Given the description of an element on the screen output the (x, y) to click on. 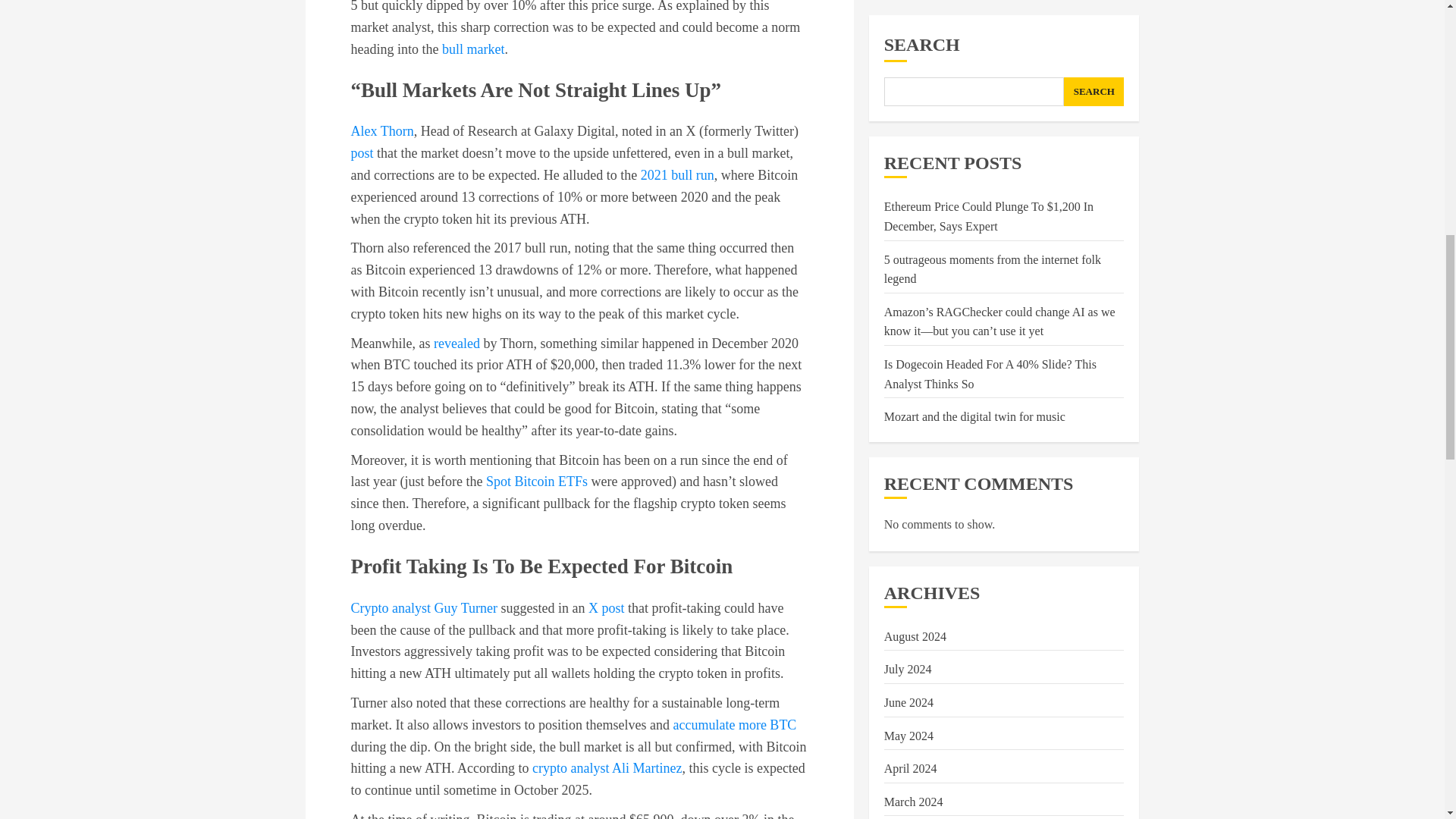
accumulate more BTC (734, 724)
Crypto analyst Guy Turner (423, 607)
post (361, 152)
Alex Thorn (381, 130)
X post (606, 607)
bull market (472, 48)
2021 bull run (677, 174)
revealed (456, 343)
Spot Bitcoin ETFs (537, 481)
crypto analyst Ali Martinez (606, 767)
